Given the description of an element on the screen output the (x, y) to click on. 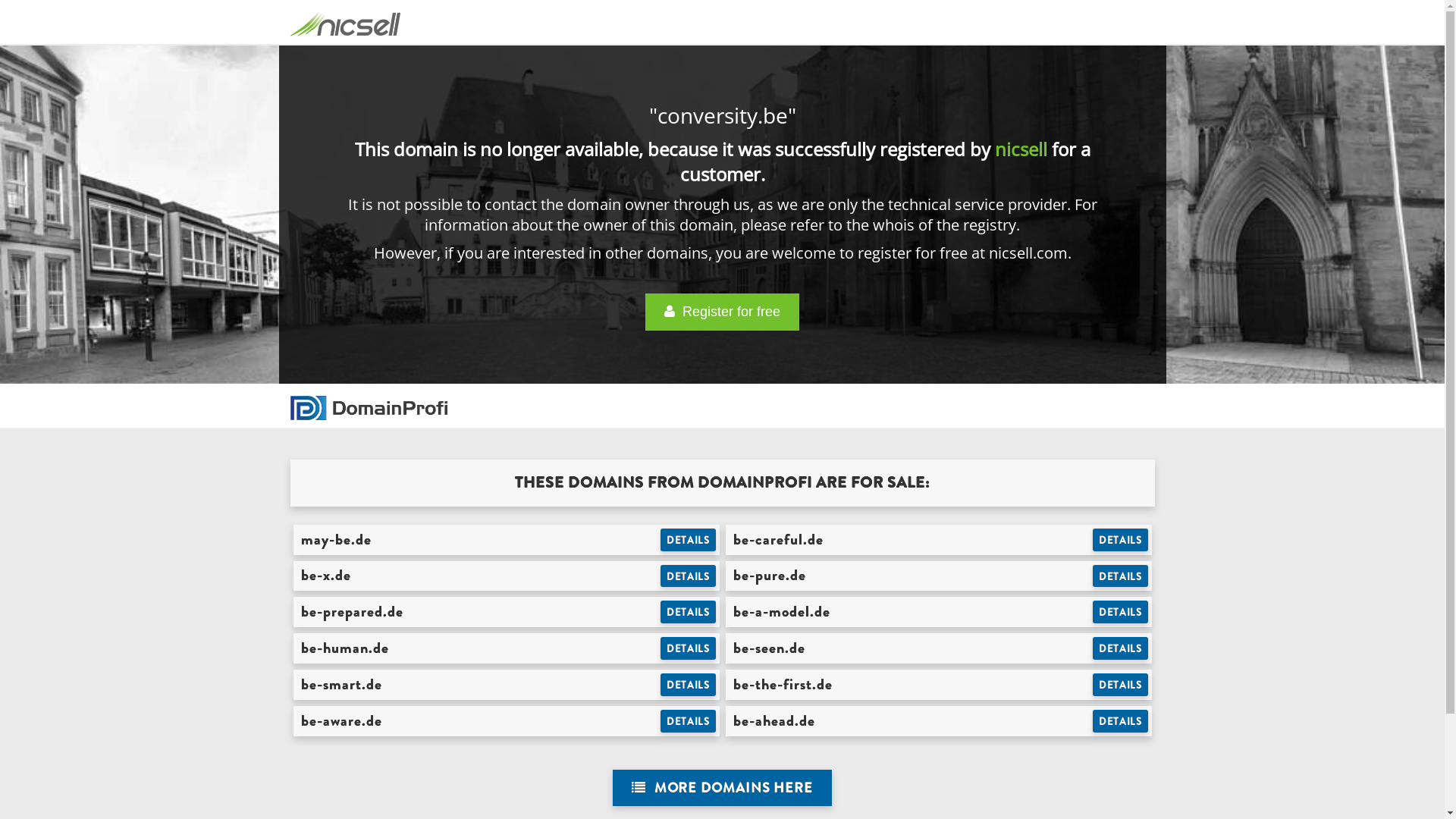
DETAILS Element type: text (1120, 720)
DETAILS Element type: text (1120, 575)
DETAILS Element type: text (1120, 539)
DETAILS Element type: text (687, 648)
DETAILS Element type: text (687, 575)
DETAILS Element type: text (687, 539)
DETAILS Element type: text (1120, 611)
  Register for free Element type: text (722, 311)
nicsell Element type: text (1020, 148)
DETAILS Element type: text (1120, 648)
DETAILS Element type: text (687, 611)
DETAILS Element type: text (687, 720)
DETAILS Element type: text (1120, 684)
DETAILS Element type: text (687, 684)
  MORE DOMAINS HERE Element type: text (721, 787)
